Given the description of an element on the screen output the (x, y) to click on. 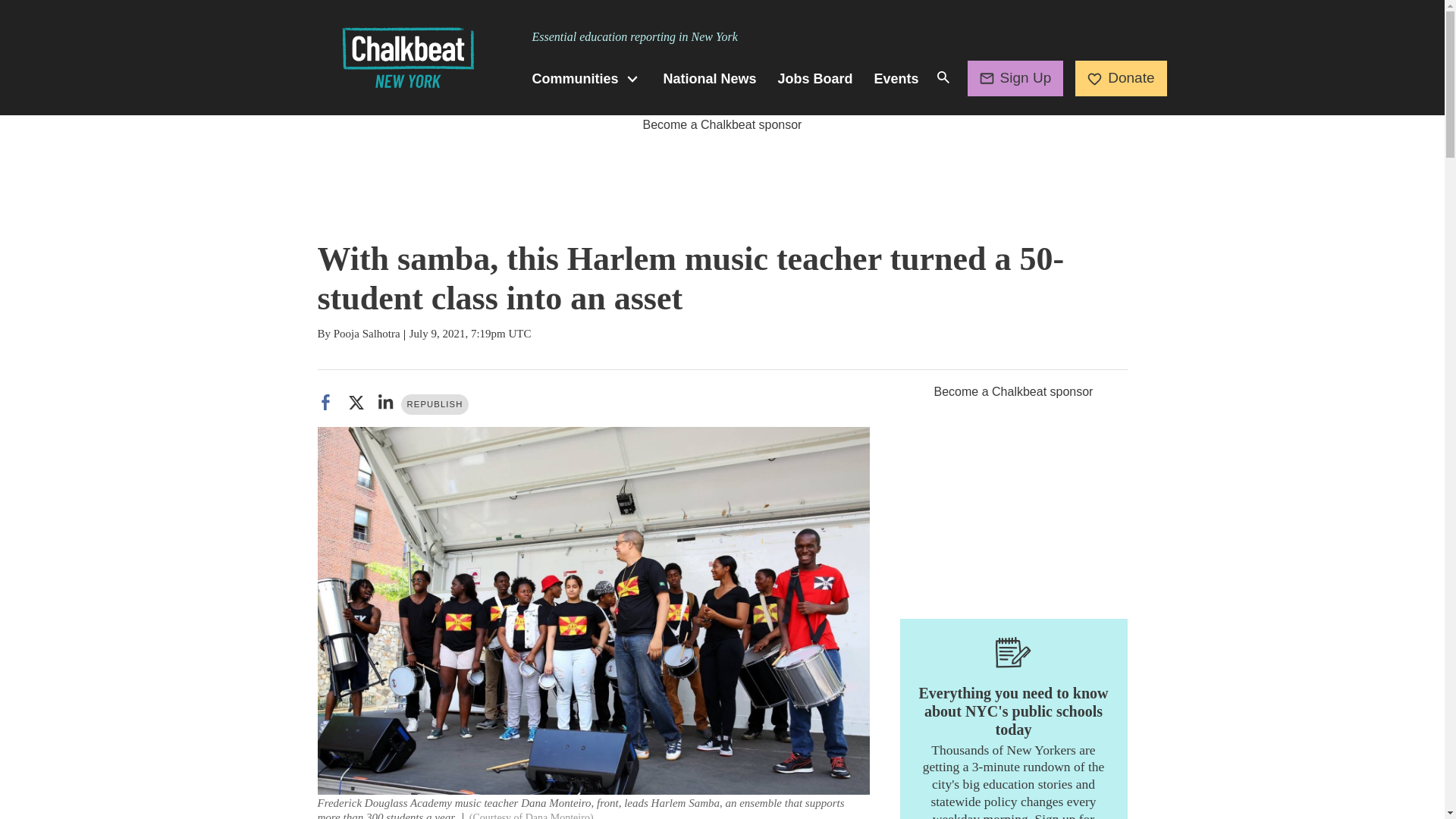
National News (710, 79)
Jobs Board (815, 79)
Sign Up (1016, 77)
Donate (1120, 77)
REPUBLISH (434, 403)
Events (896, 79)
Become a Chalkbeat sponsor (722, 124)
